Given the description of an element on the screen output the (x, y) to click on. 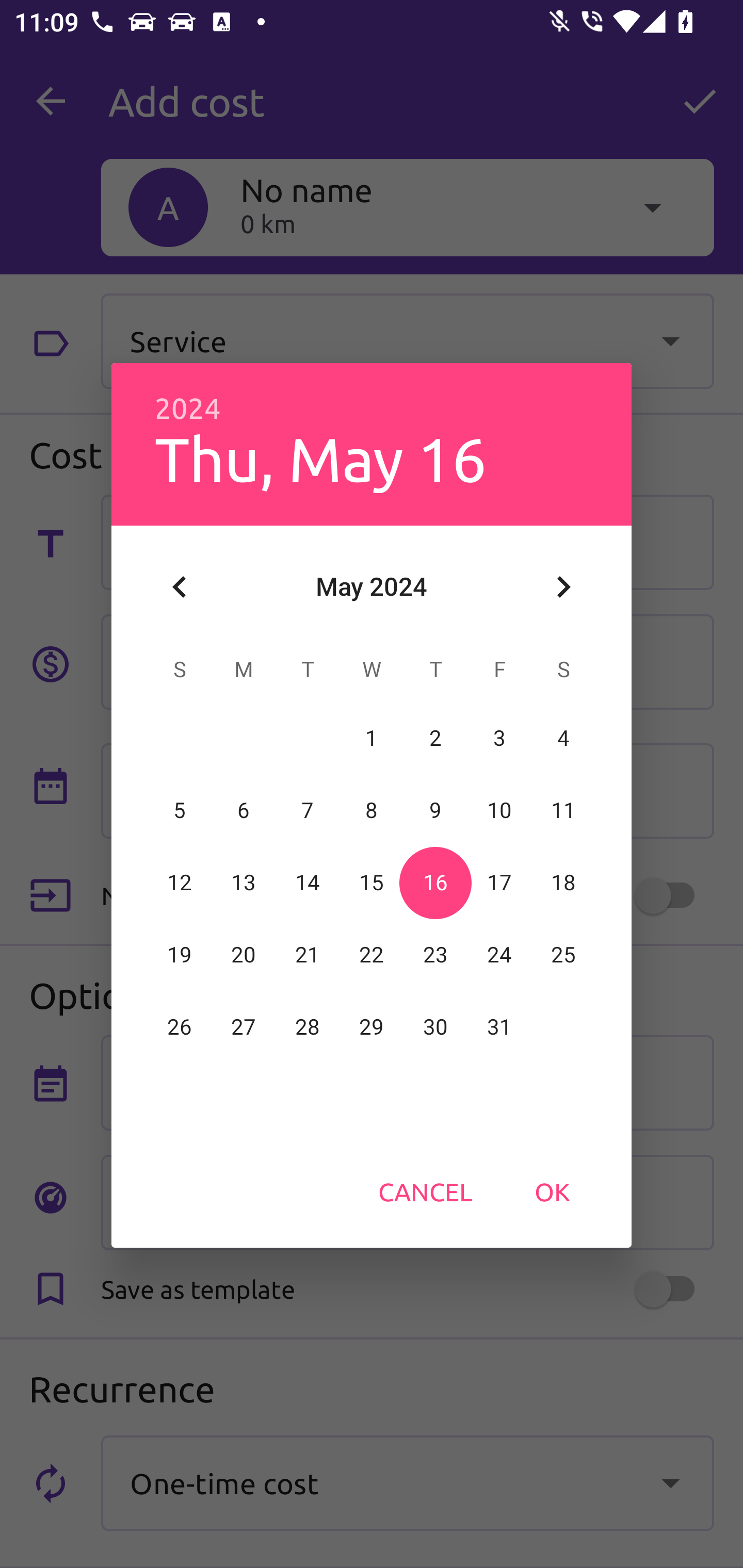
2024 (187, 408)
Thu, May 16 (320, 458)
Previous month (178, 587)
Next month (563, 587)
1 01 May 2024 (371, 738)
2 02 May 2024 (435, 738)
3 03 May 2024 (499, 738)
4 04 May 2024 (563, 738)
5 05 May 2024 (179, 810)
6 06 May 2024 (243, 810)
7 07 May 2024 (307, 810)
8 08 May 2024 (371, 810)
9 09 May 2024 (435, 810)
10 10 May 2024 (499, 810)
11 11 May 2024 (563, 810)
12 12 May 2024 (179, 882)
13 13 May 2024 (243, 882)
14 14 May 2024 (307, 882)
15 15 May 2024 (371, 882)
16 16 May 2024 (435, 882)
17 17 May 2024 (499, 882)
18 18 May 2024 (563, 882)
19 19 May 2024 (179, 954)
20 20 May 2024 (243, 954)
21 21 May 2024 (307, 954)
22 22 May 2024 (371, 954)
23 23 May 2024 (435, 954)
24 24 May 2024 (499, 954)
25 25 May 2024 (563, 954)
26 26 May 2024 (179, 1026)
27 27 May 2024 (243, 1026)
28 28 May 2024 (307, 1026)
29 29 May 2024 (371, 1026)
30 30 May 2024 (435, 1026)
31 31 May 2024 (499, 1026)
CANCEL (425, 1191)
OK (552, 1191)
